Given the description of an element on the screen output the (x, y) to click on. 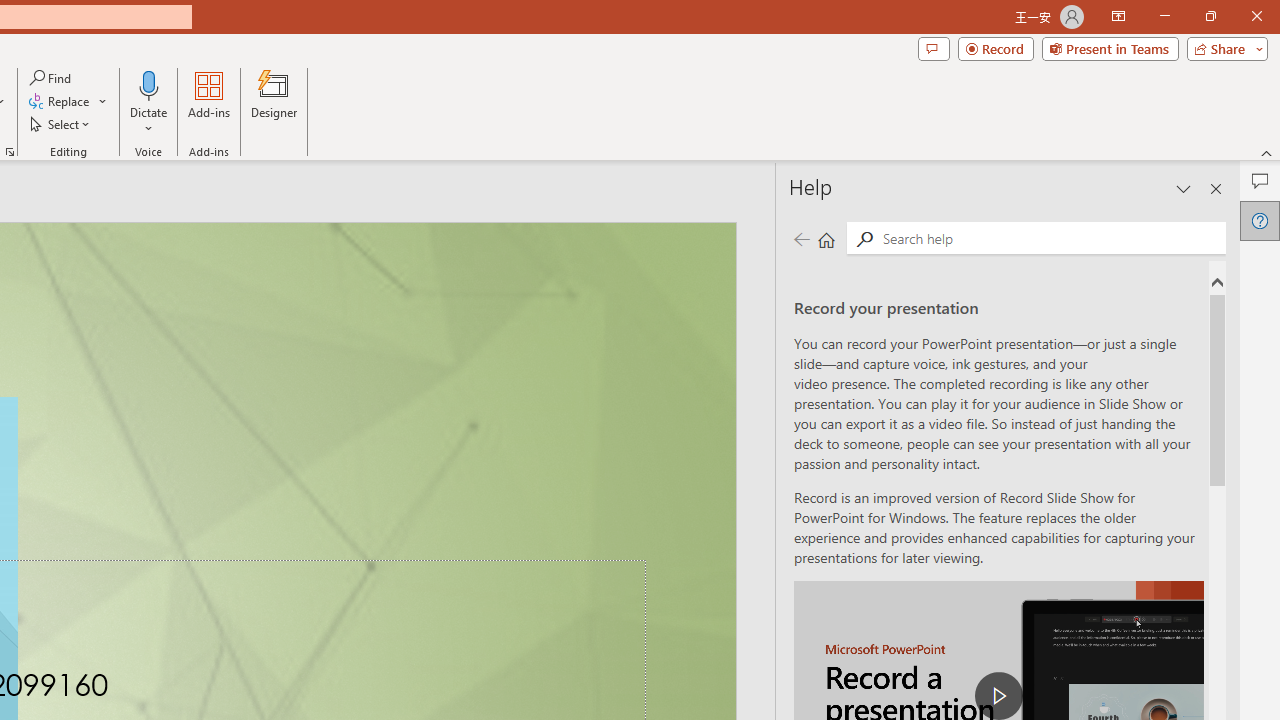
Previous page (801, 238)
Search (864, 238)
Format Object... (9, 151)
Replace... (68, 101)
Select (61, 124)
Dictate (149, 102)
Find... (51, 78)
